Given the description of an element on the screen output the (x, y) to click on. 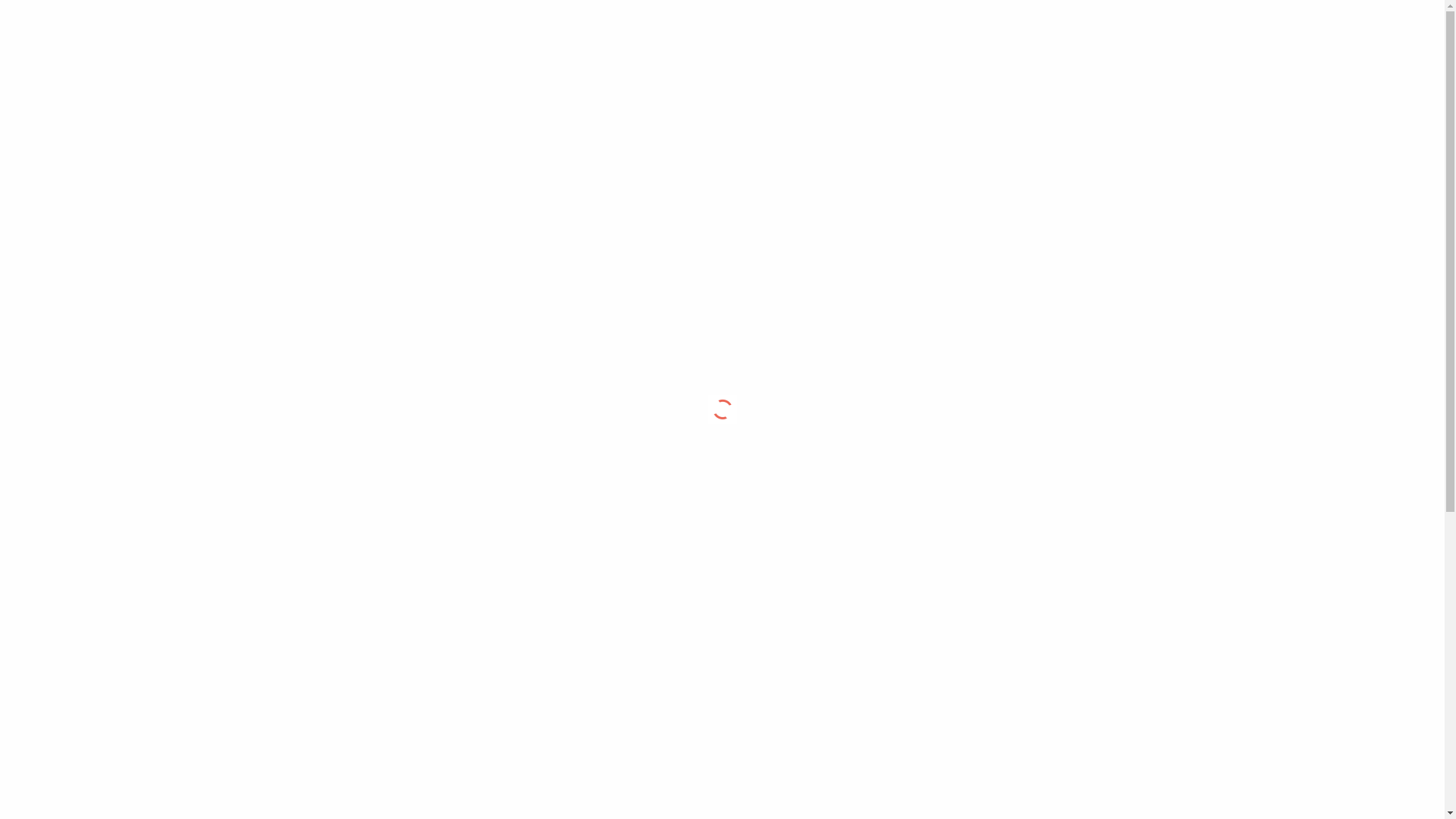
Bayswater Store Element type: text (1022, 28)
GEELONG STORE Element type: text (804, 373)
Geelong Store Element type: text (1116, 28)
BAYSWATER STORE Element type: text (646, 373)
